Given the description of an element on the screen output the (x, y) to click on. 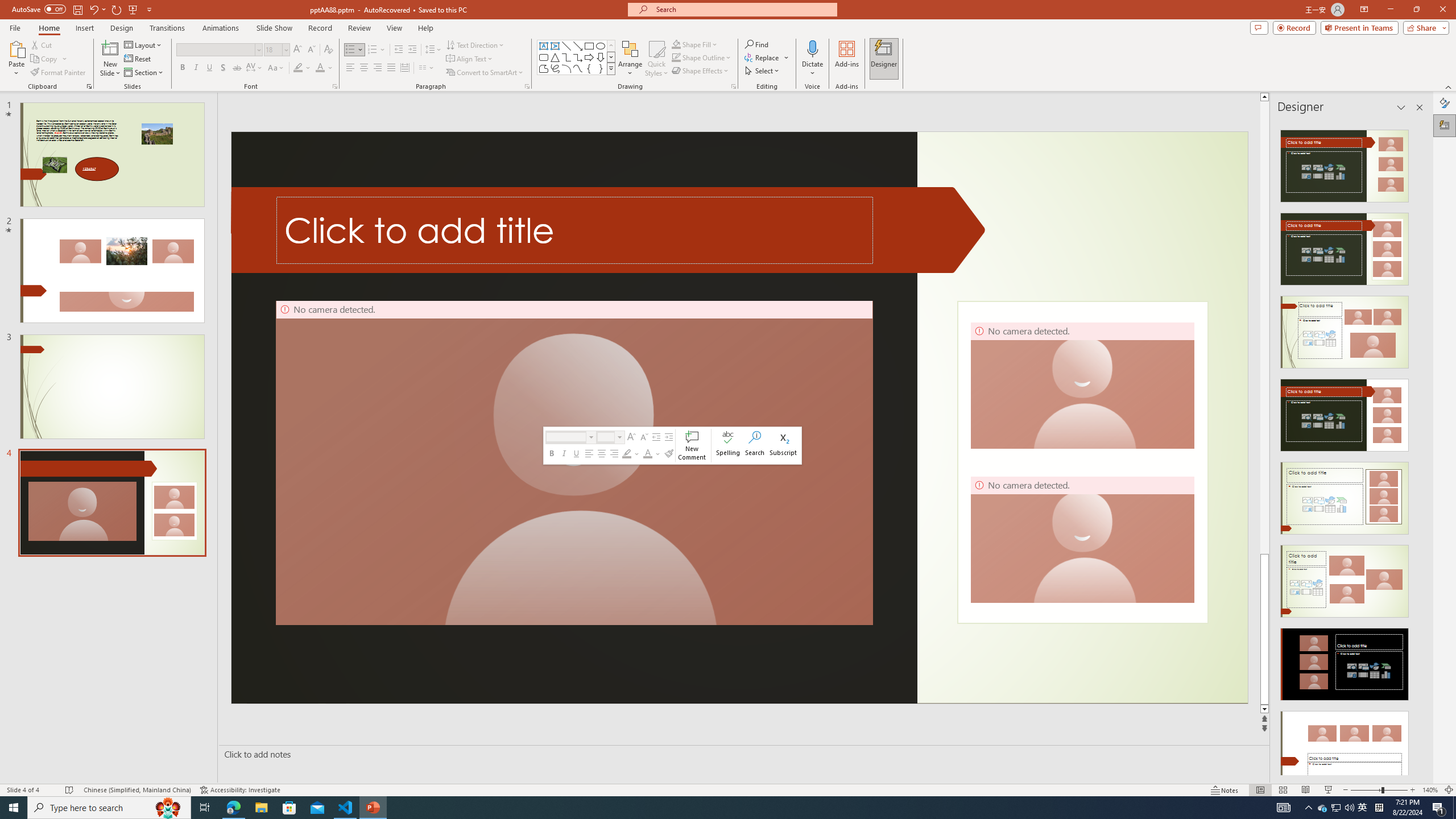
Subscript (783, 445)
